Given the description of an element on the screen output the (x, y) to click on. 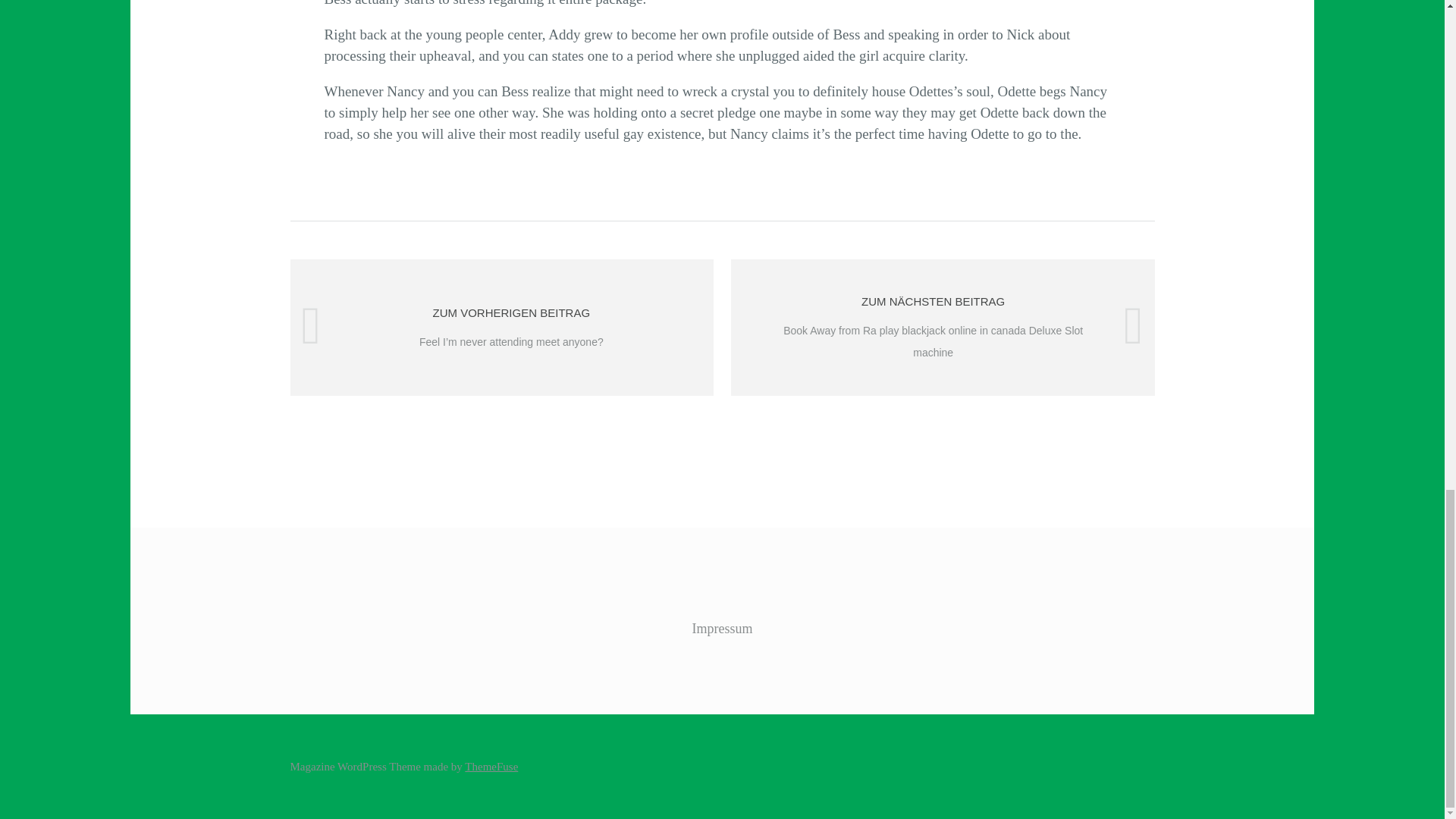
Impressum (721, 628)
ThemeFuse (491, 766)
